Given the description of an element on the screen output the (x, y) to click on. 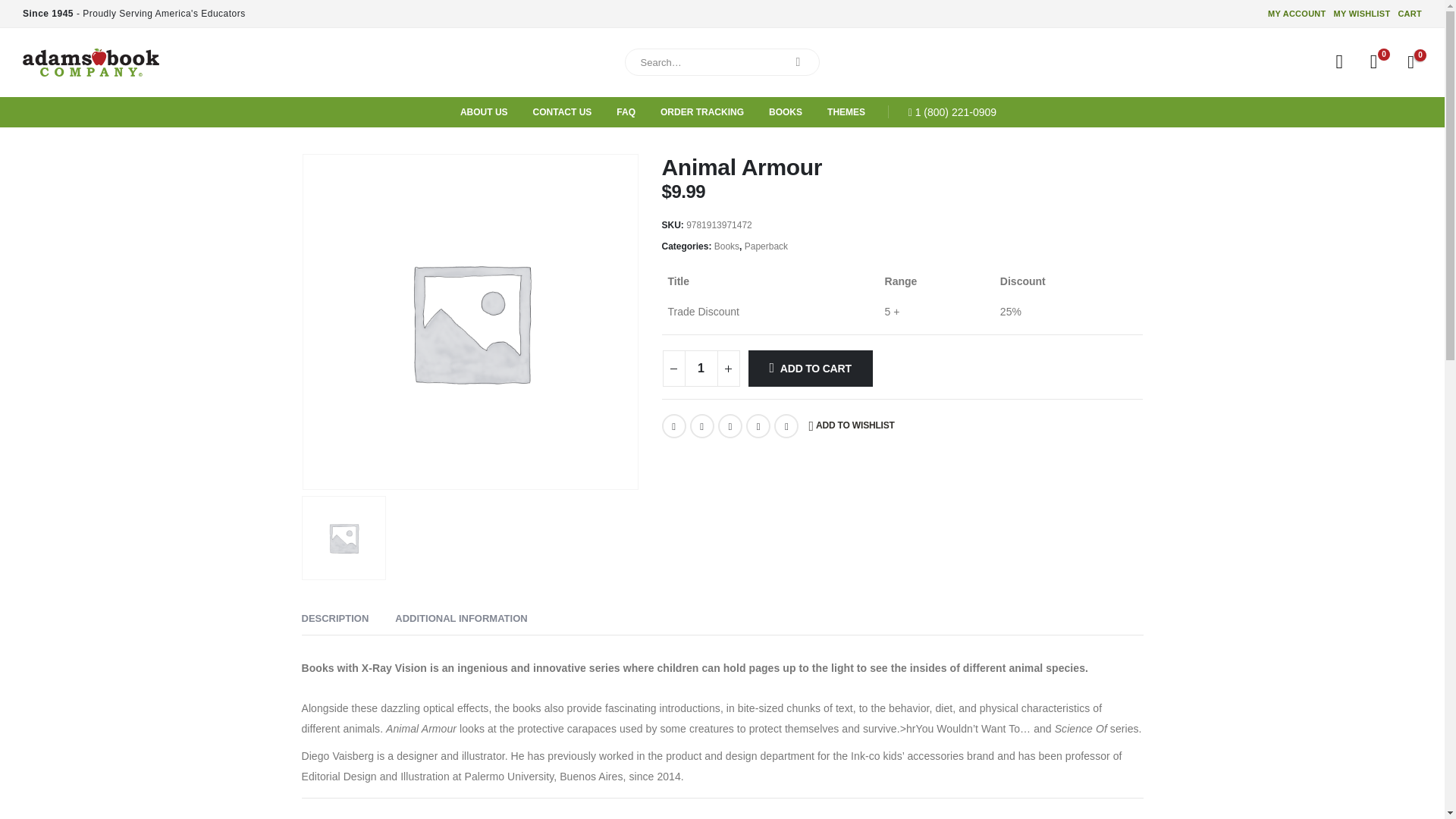
0 (1373, 62)
Email (785, 426)
LinkedIn (729, 426)
Twitter (702, 426)
1 (700, 368)
My Account (1339, 62)
Search (798, 62)
Facebook (673, 426)
MY WISHLIST (1362, 13)
CART (1407, 13)
Wishlist (1373, 62)
MY ACCOUNT (1299, 13)
